Given the description of an element on the screen output the (x, y) to click on. 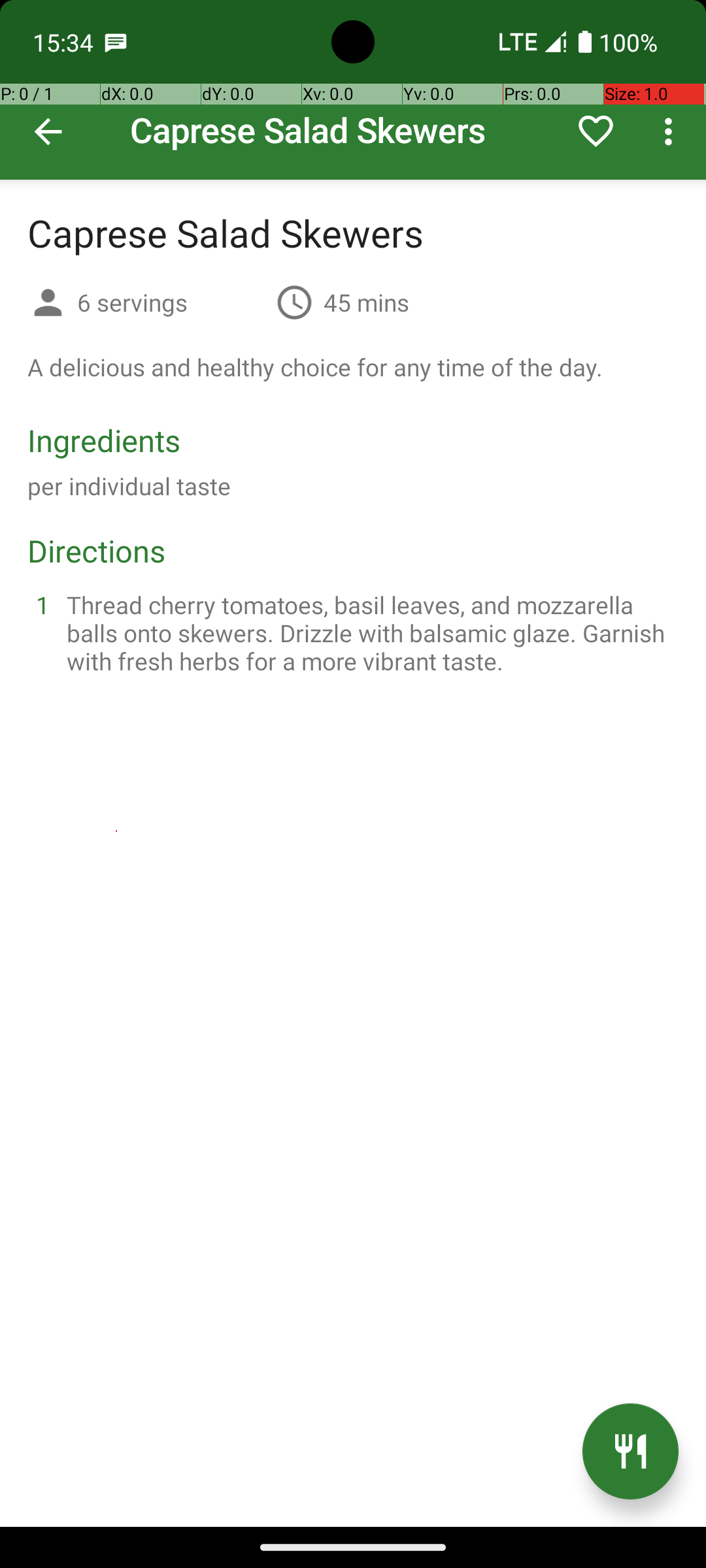
Thread cherry tomatoes, basil leaves, and mozzarella balls onto skewers. Drizzle with balsamic glaze. Garnish with fresh herbs for a more vibrant taste. Element type: android.widget.TextView (368, 632)
